Given the description of an element on the screen output the (x, y) to click on. 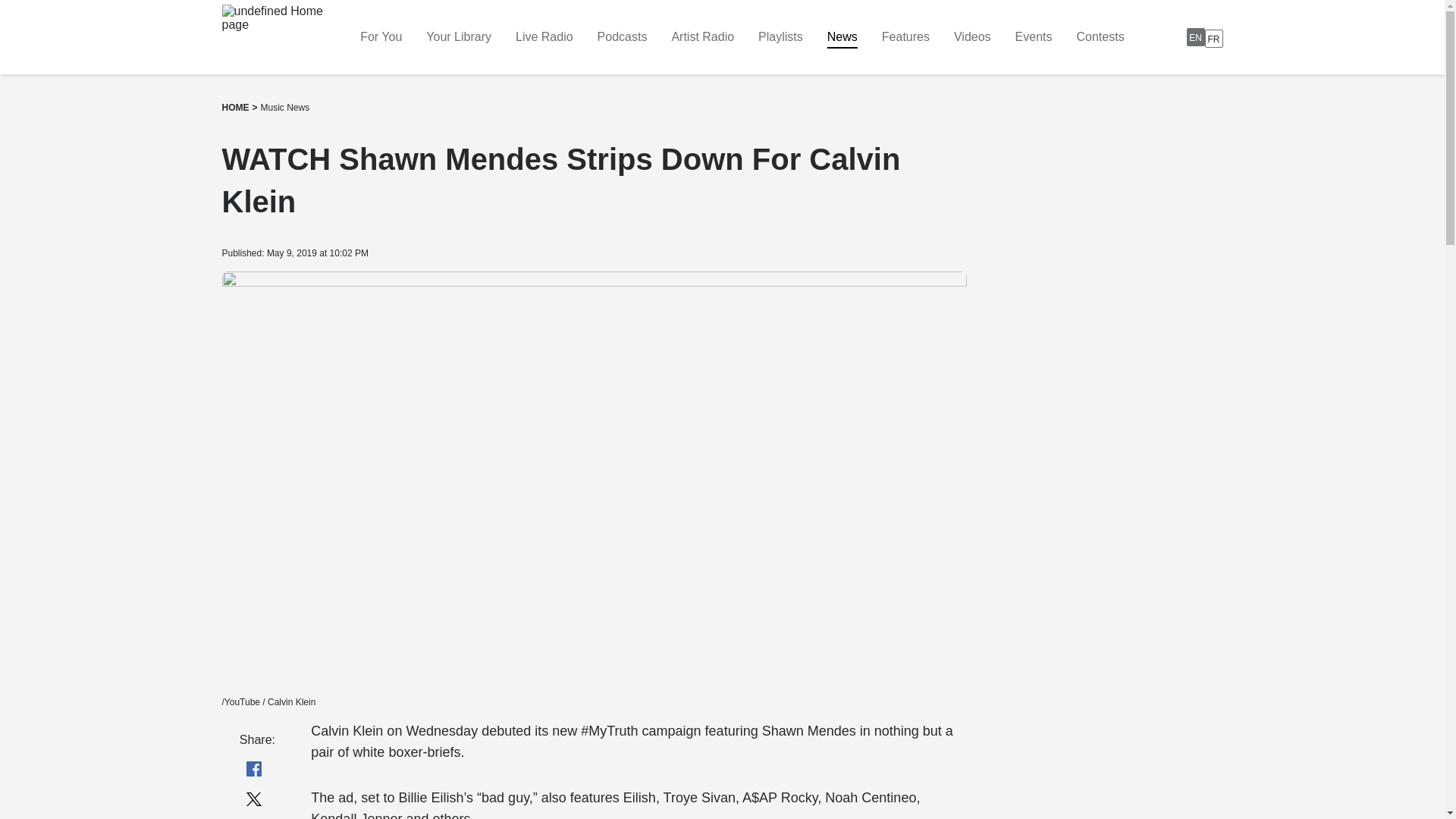
Podcasts (1204, 36)
Music News (621, 36)
Artist Radio (285, 107)
Live Radio (702, 36)
Features (544, 36)
Playlists (906, 36)
Your Library (780, 36)
Contests (459, 36)
For You (1100, 36)
Events (380, 36)
News (1033, 36)
Videos (842, 36)
HOME (972, 36)
